Given the description of an element on the screen output the (x, y) to click on. 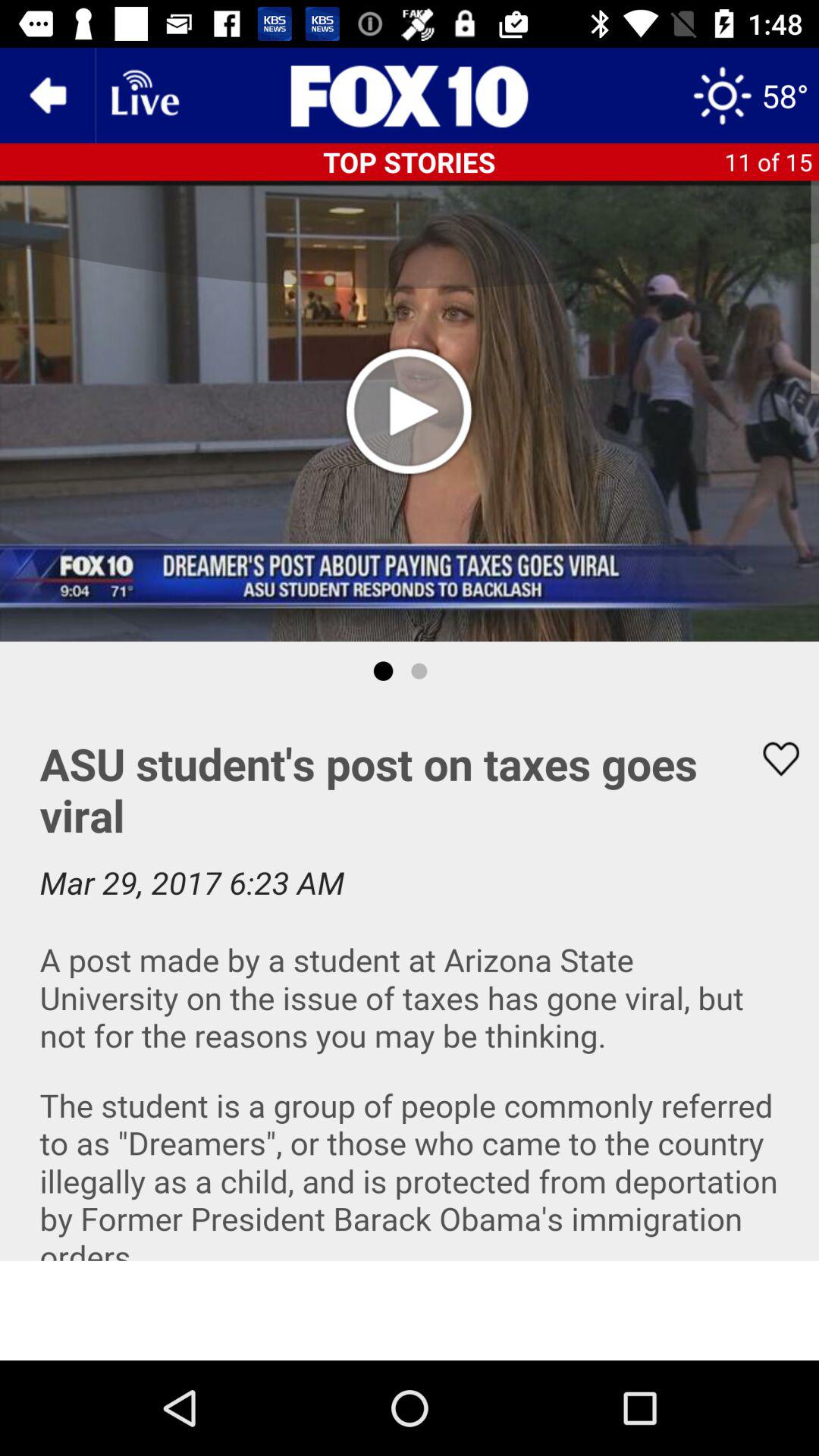
backward (47, 95)
